Given the description of an element on the screen output the (x, y) to click on. 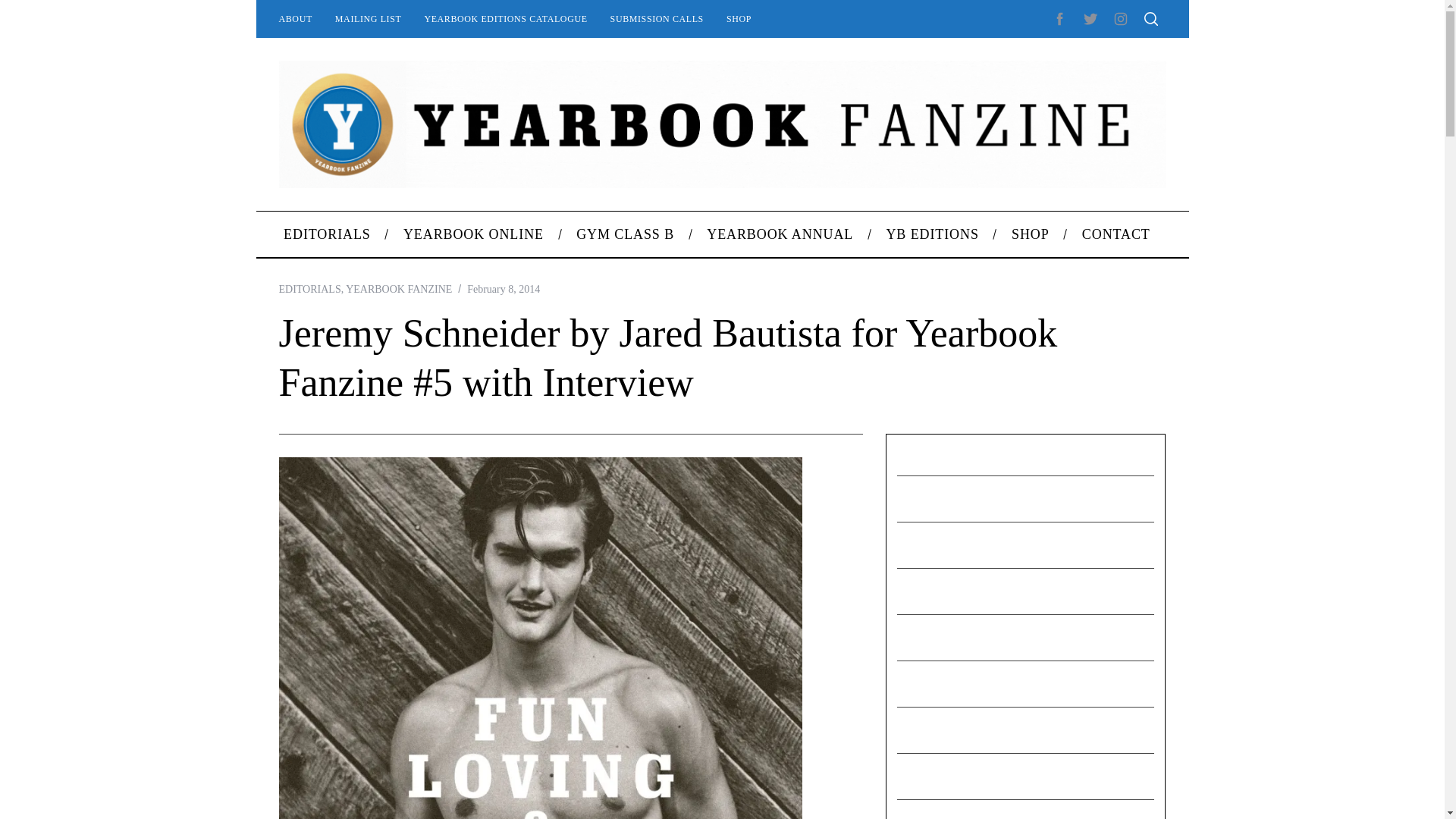
YEARBOOK ANNUAL (779, 234)
SHOP (738, 18)
MAILING LIST (368, 18)
SUBMISSION CALLS (656, 18)
ABOUT (294, 18)
YEARBOOK EDITIONS CATALOGUE (505, 18)
GYM CLASS B (625, 234)
